Given the description of an element on the screen output the (x, y) to click on. 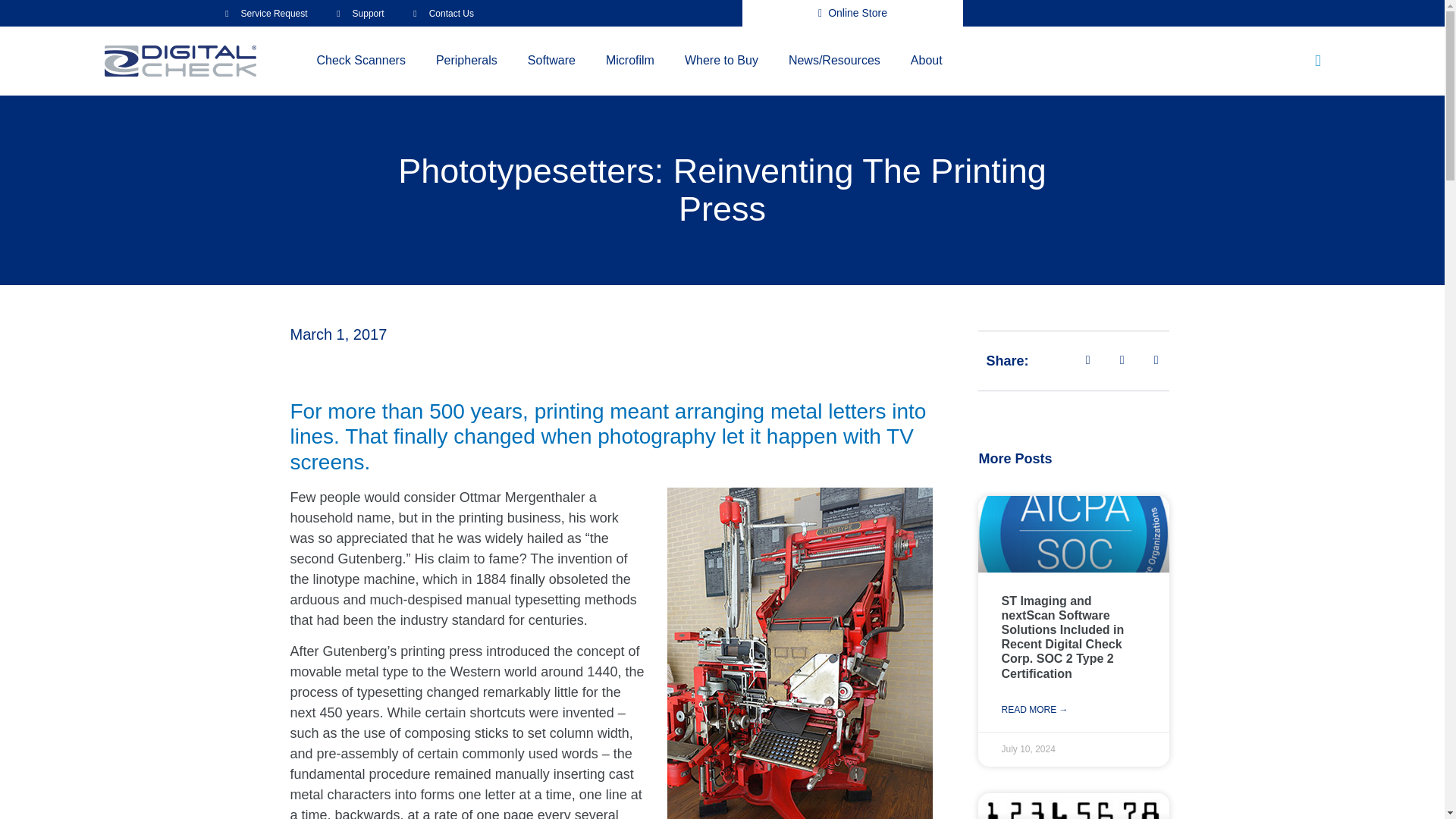
Online Store (852, 13)
Service Request (261, 12)
Peripherals (466, 60)
Check Scanners (360, 60)
Contact Us (440, 12)
Support (356, 12)
